Given the description of an element on the screen output the (x, y) to click on. 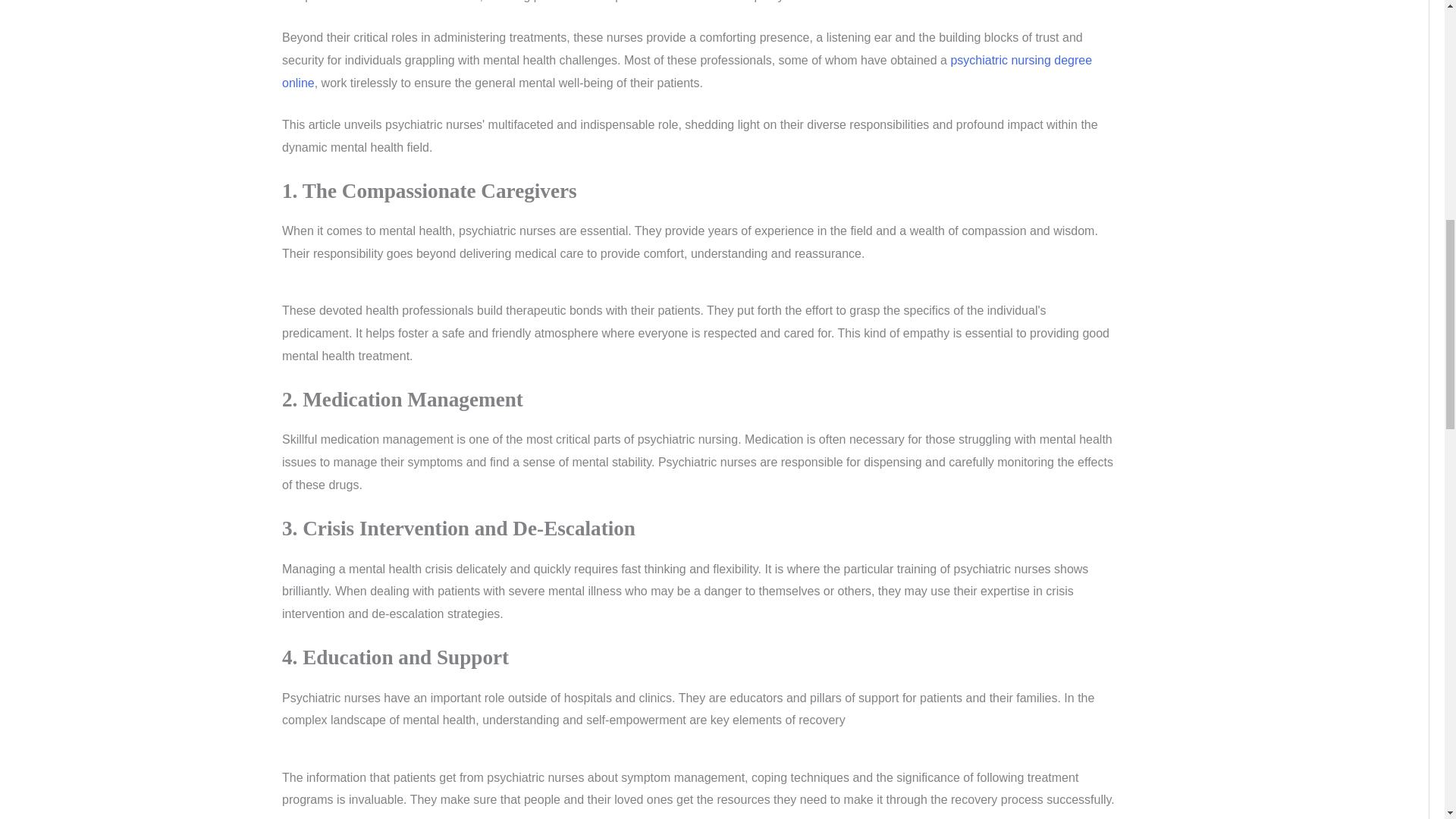
psychiatric nursing degree online (687, 71)
